Given the description of an element on the screen output the (x, y) to click on. 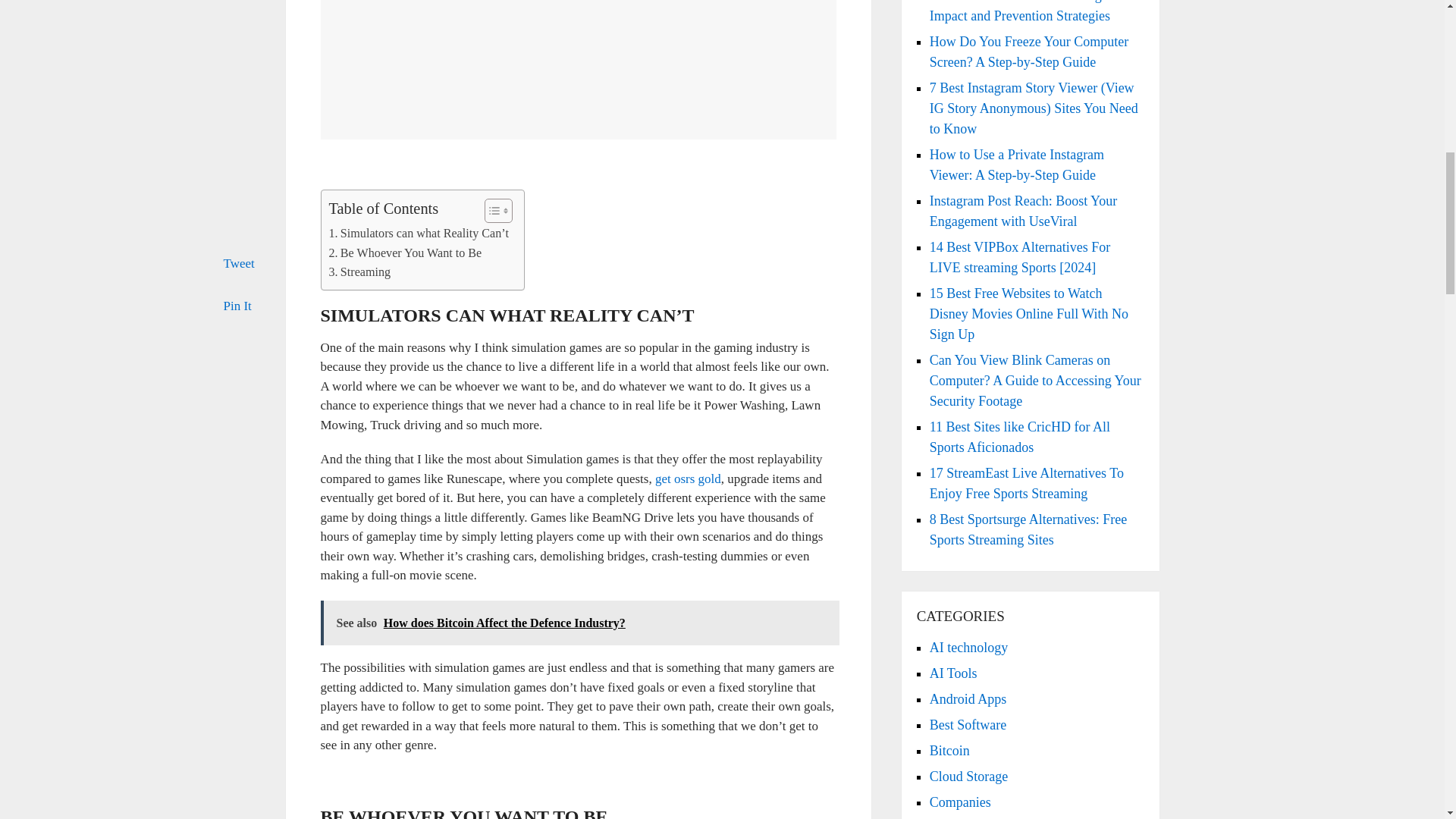
Be Whoever You Want to Be (405, 252)
get osrs gold (687, 478)
Be Whoever You Want to Be (405, 252)
Streaming (360, 271)
Why Are Simulation Games So Popular? 1 (577, 69)
See also  How does Bitcoin Affect the Defence Industry? (579, 623)
Streaming (360, 271)
